Given the description of an element on the screen output the (x, y) to click on. 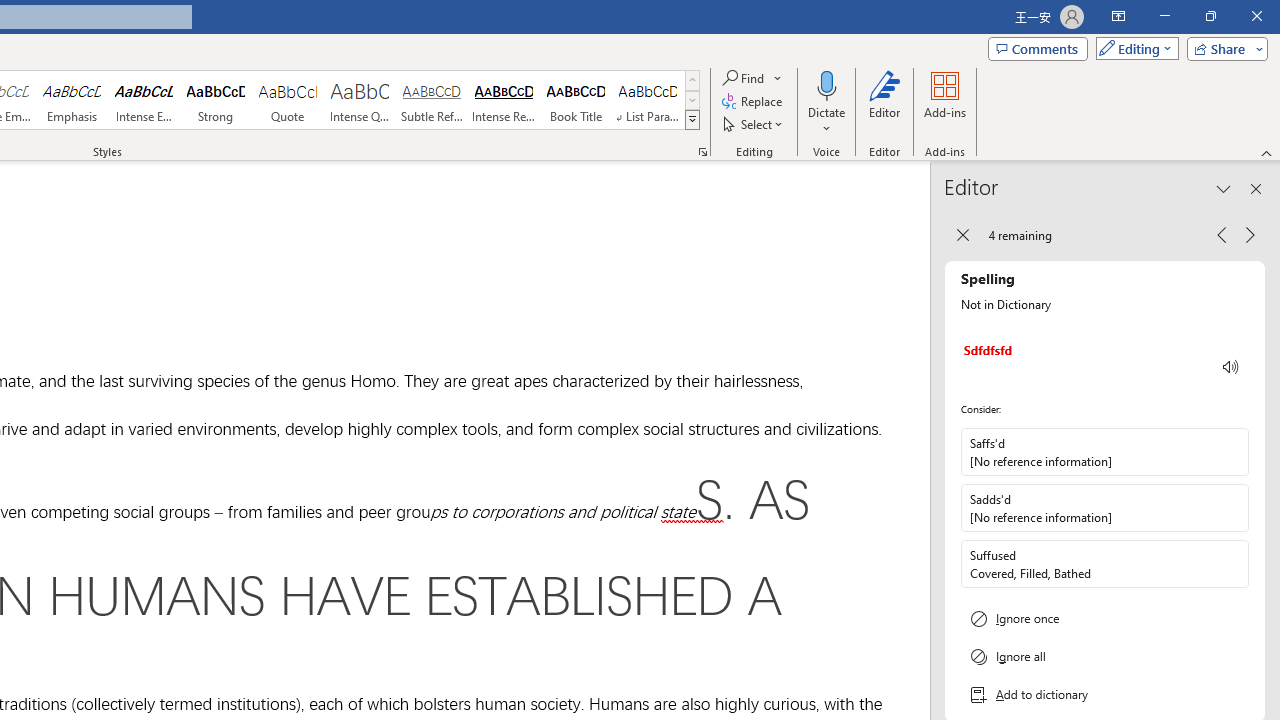
AutomationID: DrillInPane_ReadContext (1231, 367)
Class: NetUIImage (692, 119)
Intense Emphasis (143, 100)
Styles (692, 120)
Restore Down (1210, 16)
Strong (216, 100)
Replace... (753, 101)
Emphasis (71, 100)
Ignore once (1105, 618)
Row Down (692, 100)
Comments (1038, 48)
Quote (287, 100)
